Given the description of an element on the screen output the (x, y) to click on. 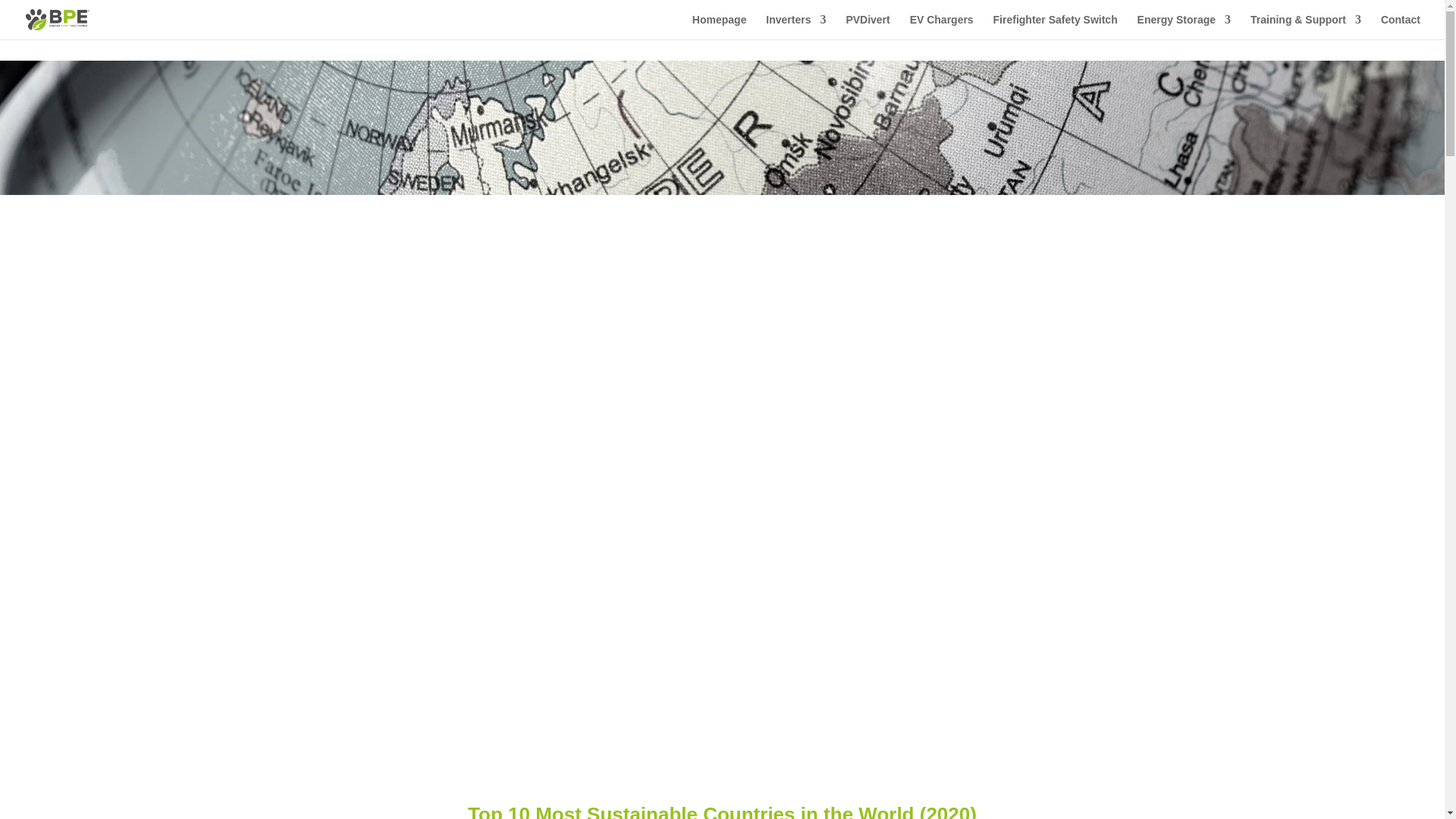
Energy Storage (1183, 26)
Homepage (719, 26)
Firefighter Safety Switch (1055, 26)
EV Chargers (942, 26)
Inverters (795, 26)
PVDivert (867, 26)
Contact (1400, 26)
